Given the description of an element on the screen output the (x, y) to click on. 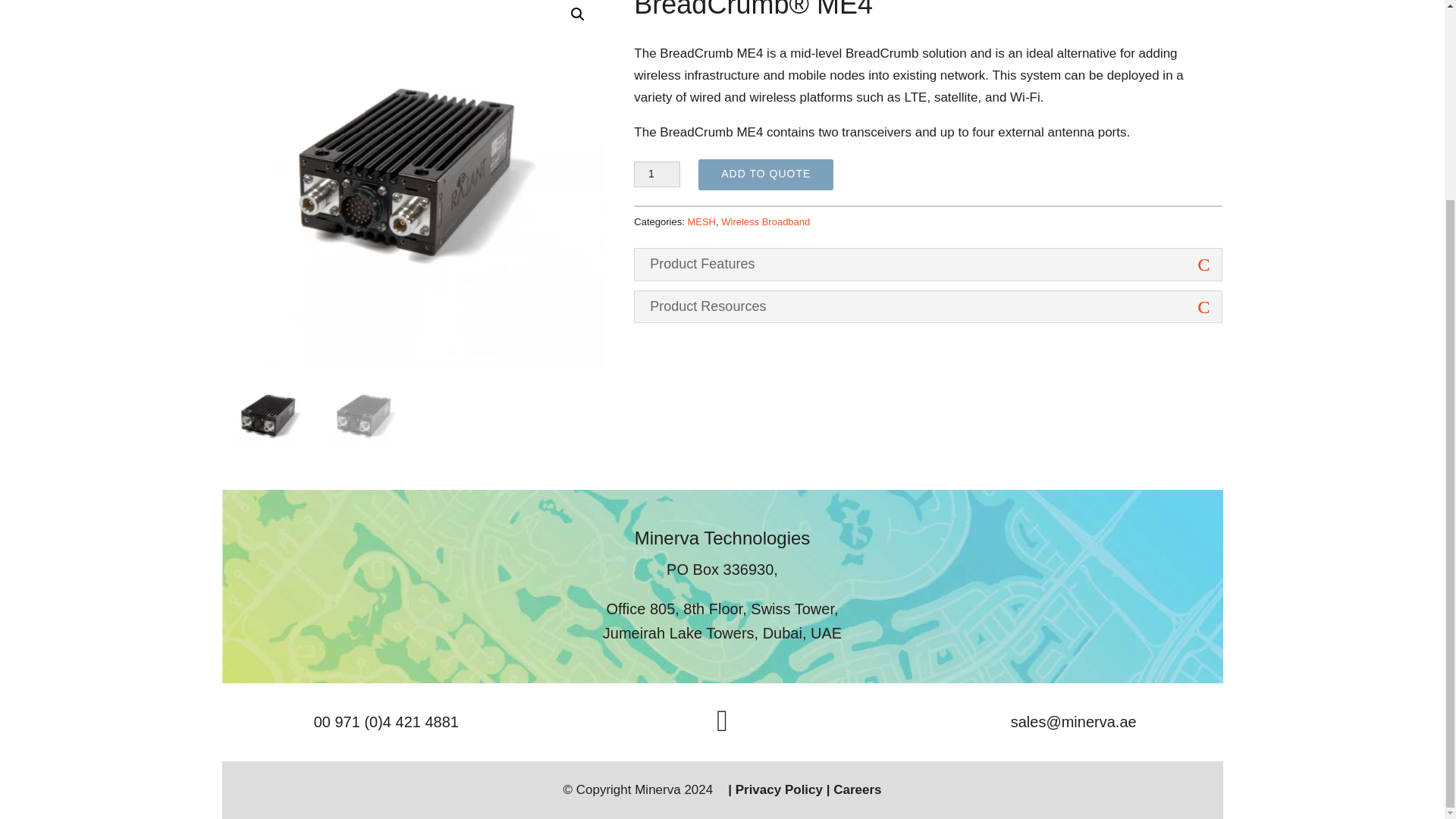
1 (656, 174)
